Given the description of an element on the screen output the (x, y) to click on. 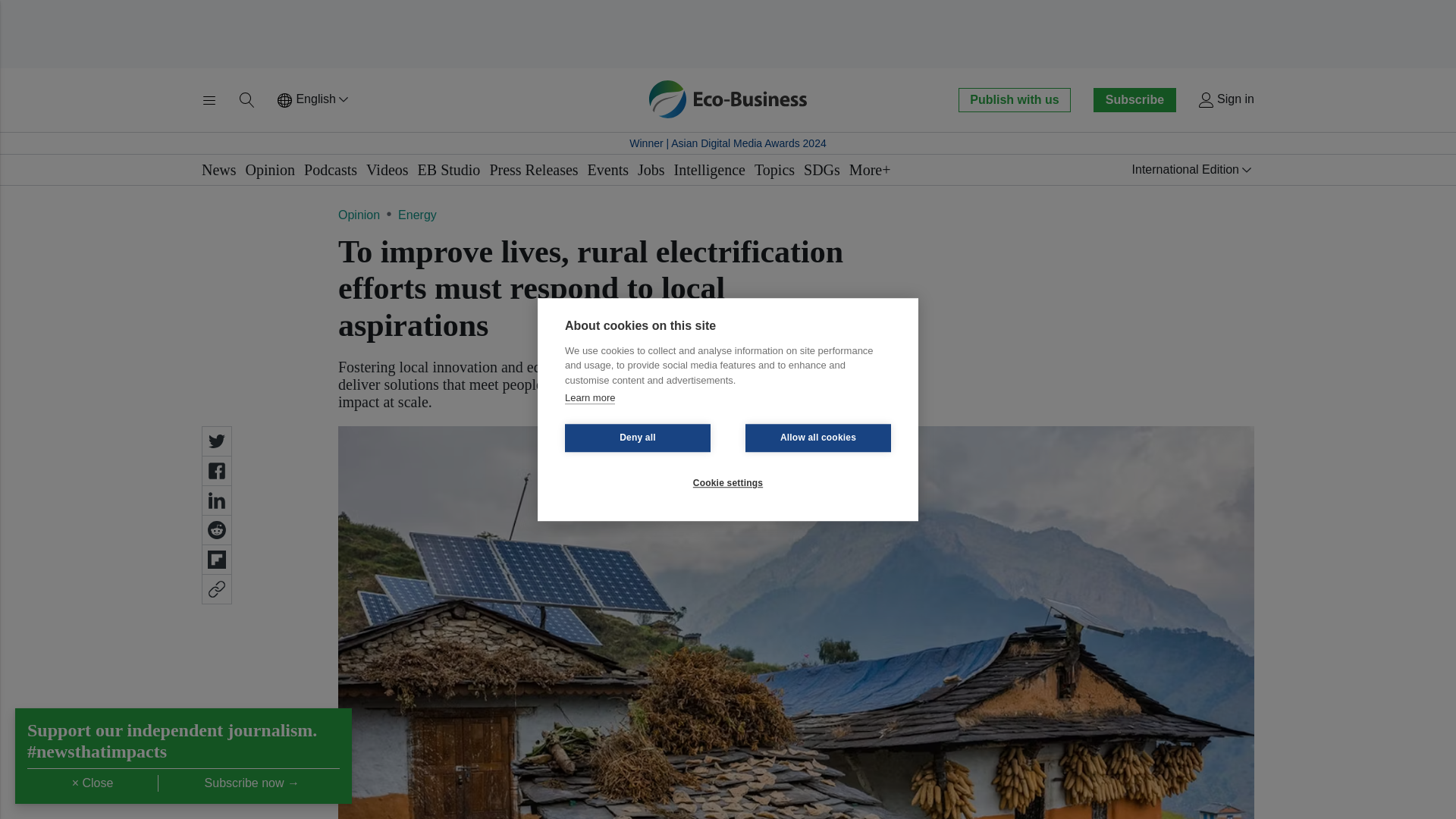
Go to the Eco-Business homepage (727, 99)
Toggle menu (209, 99)
Share on LinkedIn (216, 500)
Subscribe (1133, 99)
Toggle search (247, 99)
Share on Twitter (216, 440)
3rd party ad content (727, 33)
Search (247, 99)
English (314, 99)
Cookie settings (727, 482)
